Given the description of an element on the screen output the (x, y) to click on. 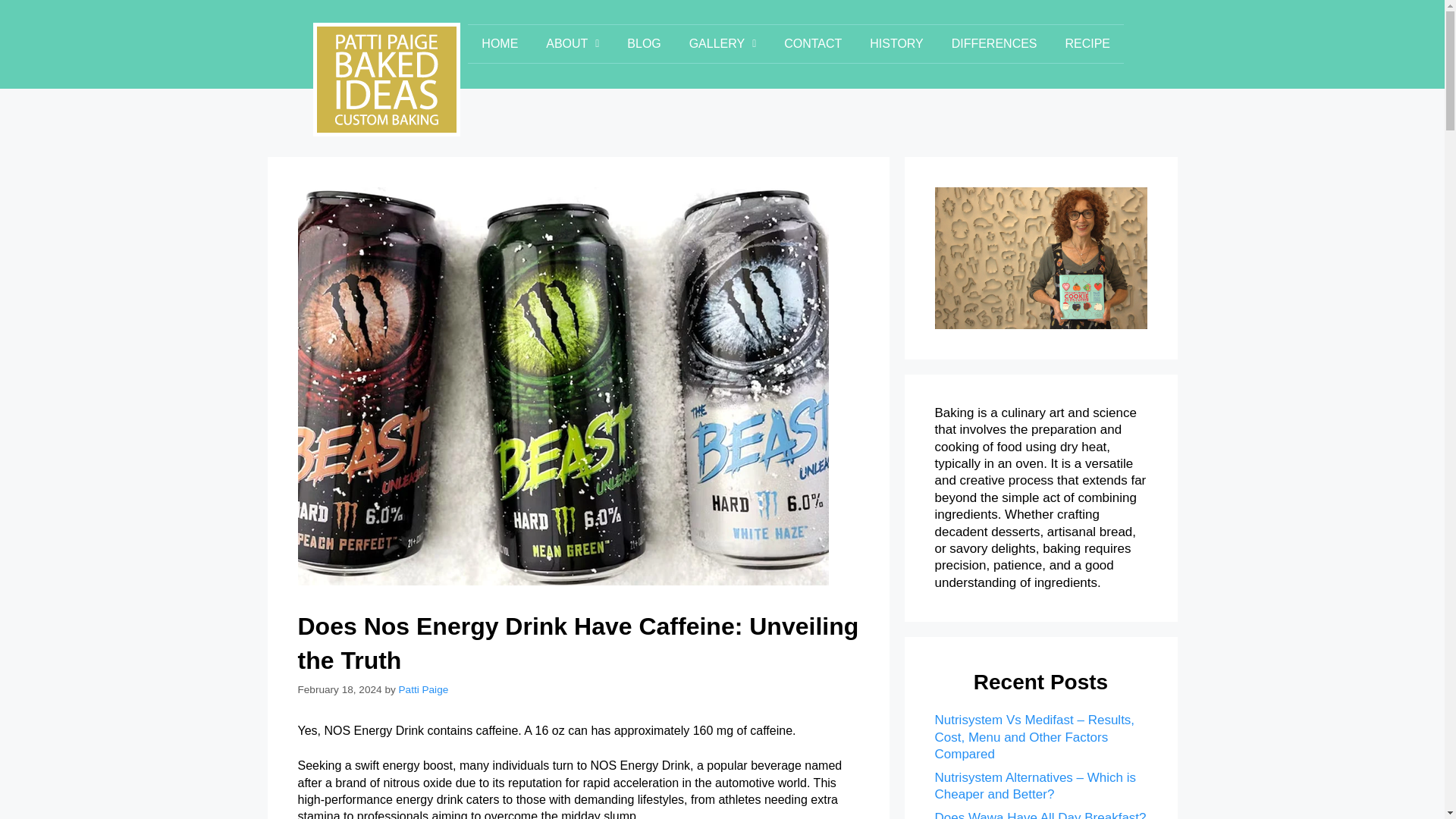
HISTORY (896, 43)
HOME (499, 43)
ABOUT (572, 43)
Patti Paige (423, 689)
GALLERY (722, 43)
DIFFERENCES (994, 43)
BLOG (643, 43)
View all posts by Patti Paige (423, 689)
CONTACT (813, 43)
RECIPE (1087, 43)
